Given the description of an element on the screen output the (x, y) to click on. 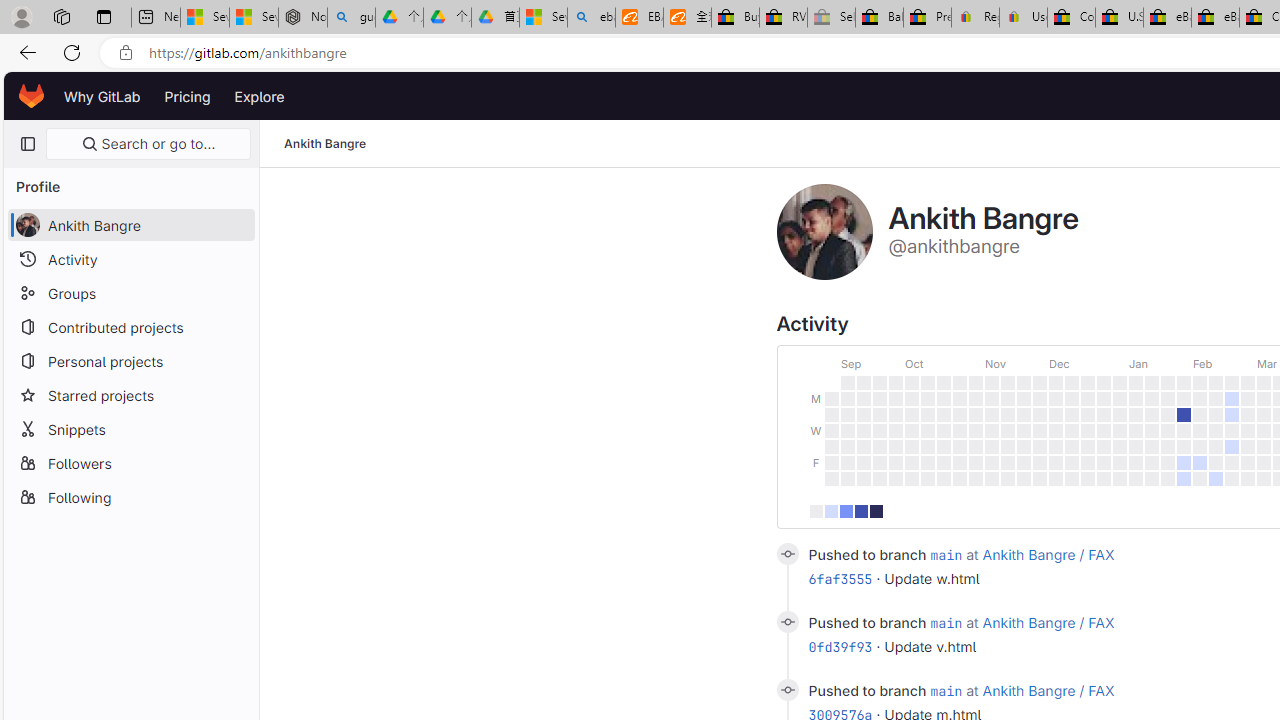
Ankith Bangre (325, 143)
Explore (259, 95)
User Privacy Notice | eBay (1023, 17)
